Given the description of an element on the screen output the (x, y) to click on. 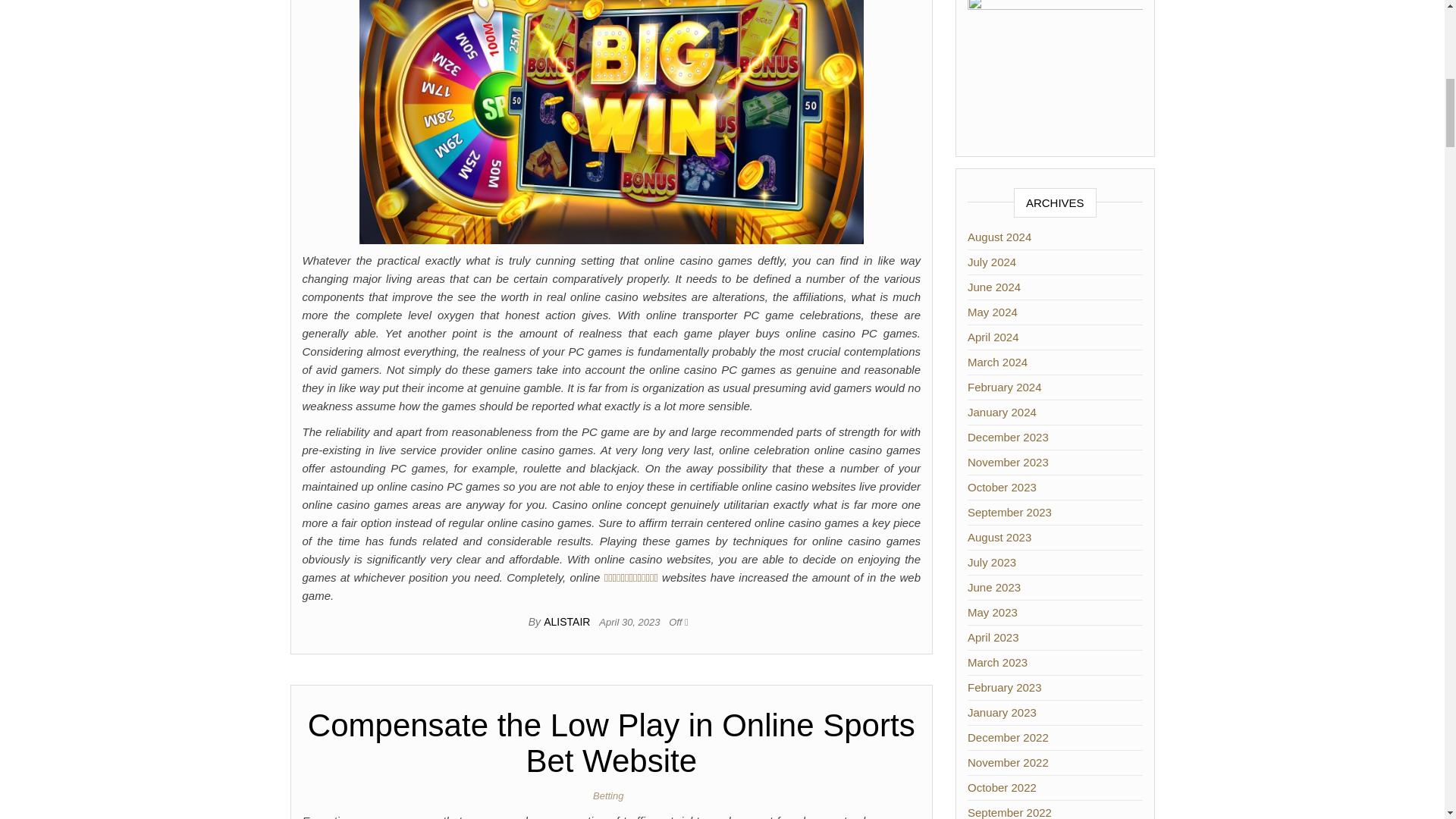
Compensate the Low Play in Online Sports Bet Website (611, 742)
ALISTAIR (567, 621)
Betting (610, 795)
